Given the description of an element on the screen output the (x, y) to click on. 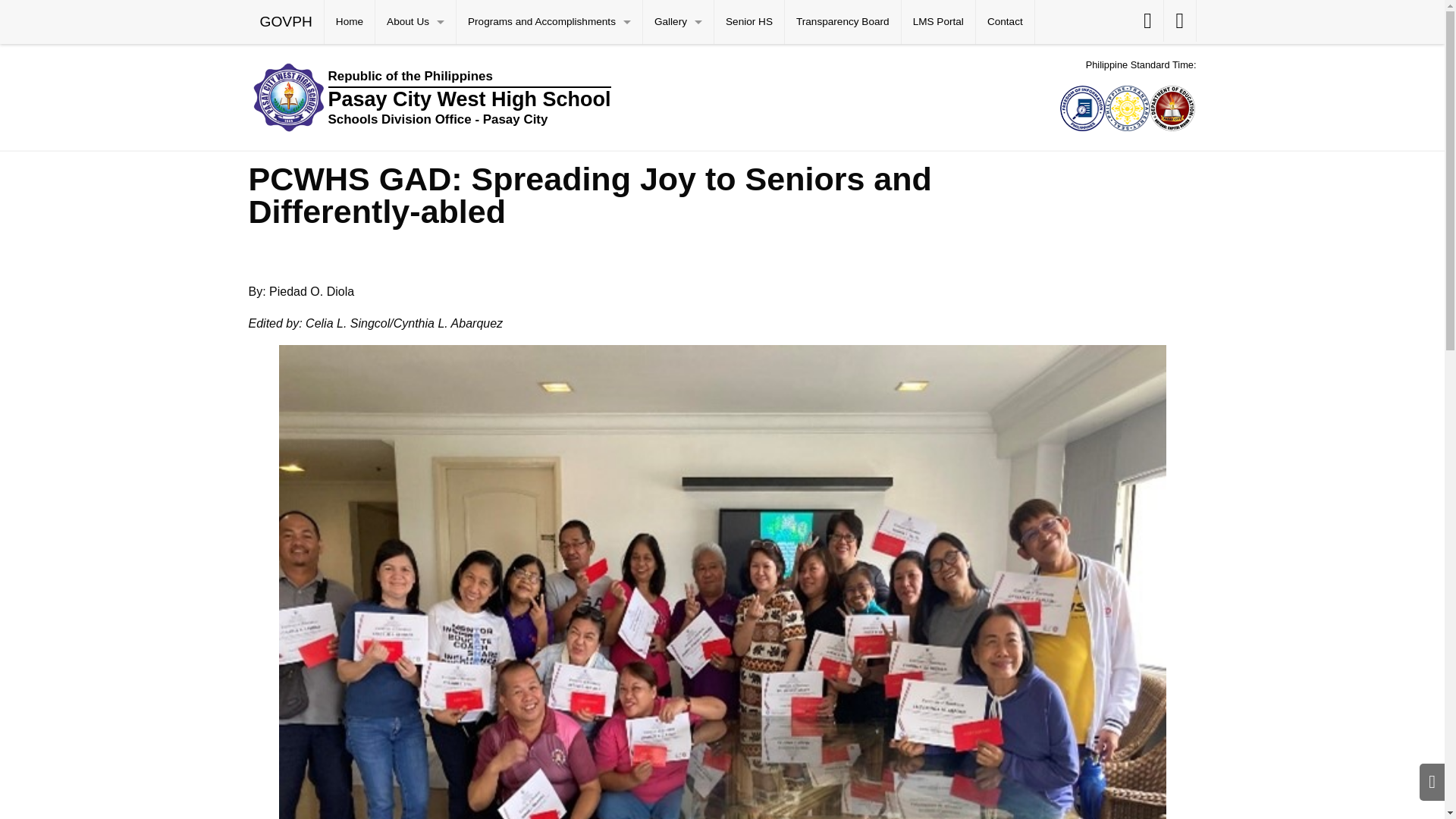
GOVPH (285, 22)
About Us (415, 22)
Transparency Board (842, 22)
Senior HS (749, 22)
Gallery (678, 22)
Programs and Accomplishments (549, 22)
Home (349, 22)
Pasay City West High School (600, 96)
